Given the description of an element on the screen output the (x, y) to click on. 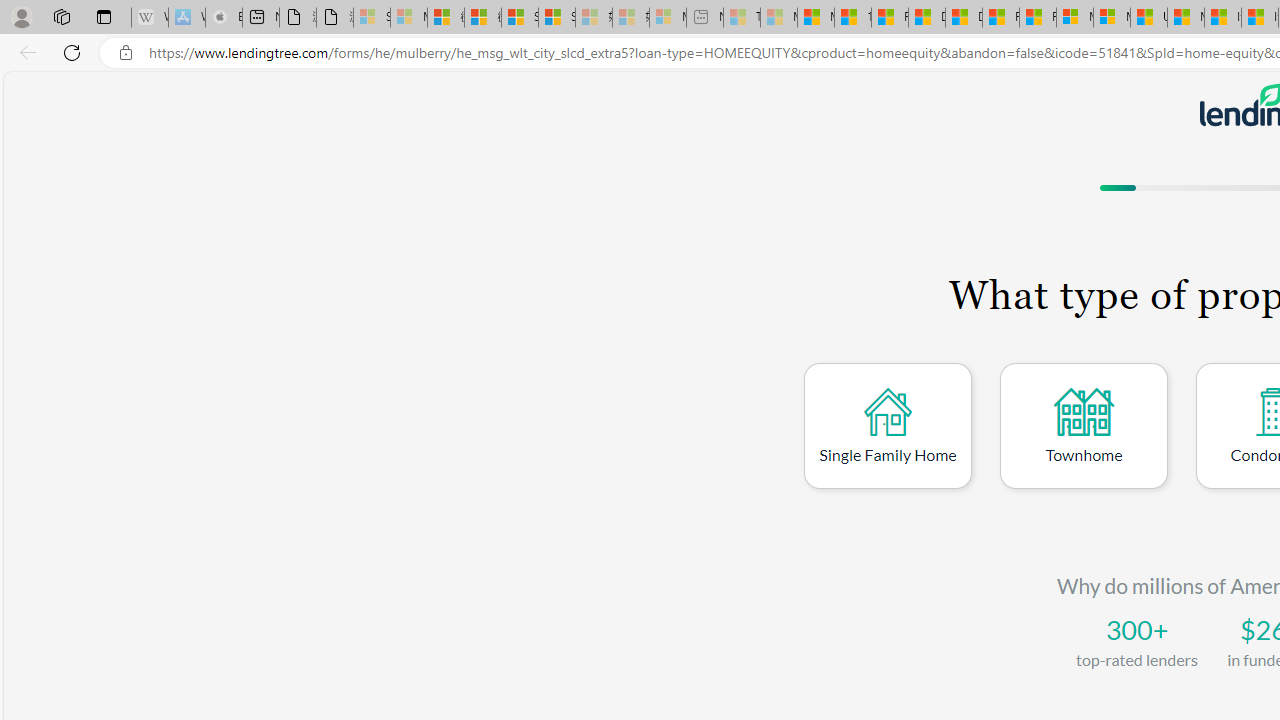
Drinking tea every day is proven to delay biological aging (963, 17)
Marine life - MSN - Sleeping (779, 17)
Foo BAR | Trusted Community Engagement and Contributions (1037, 17)
Microsoft Services Agreement - Sleeping (408, 17)
US Heat Deaths Soared To Record High Last Year (1149, 17)
Top Stories - MSN - Sleeping (742, 17)
Food and Drink - MSN (889, 17)
